Given the description of an element on the screen output the (x, y) to click on. 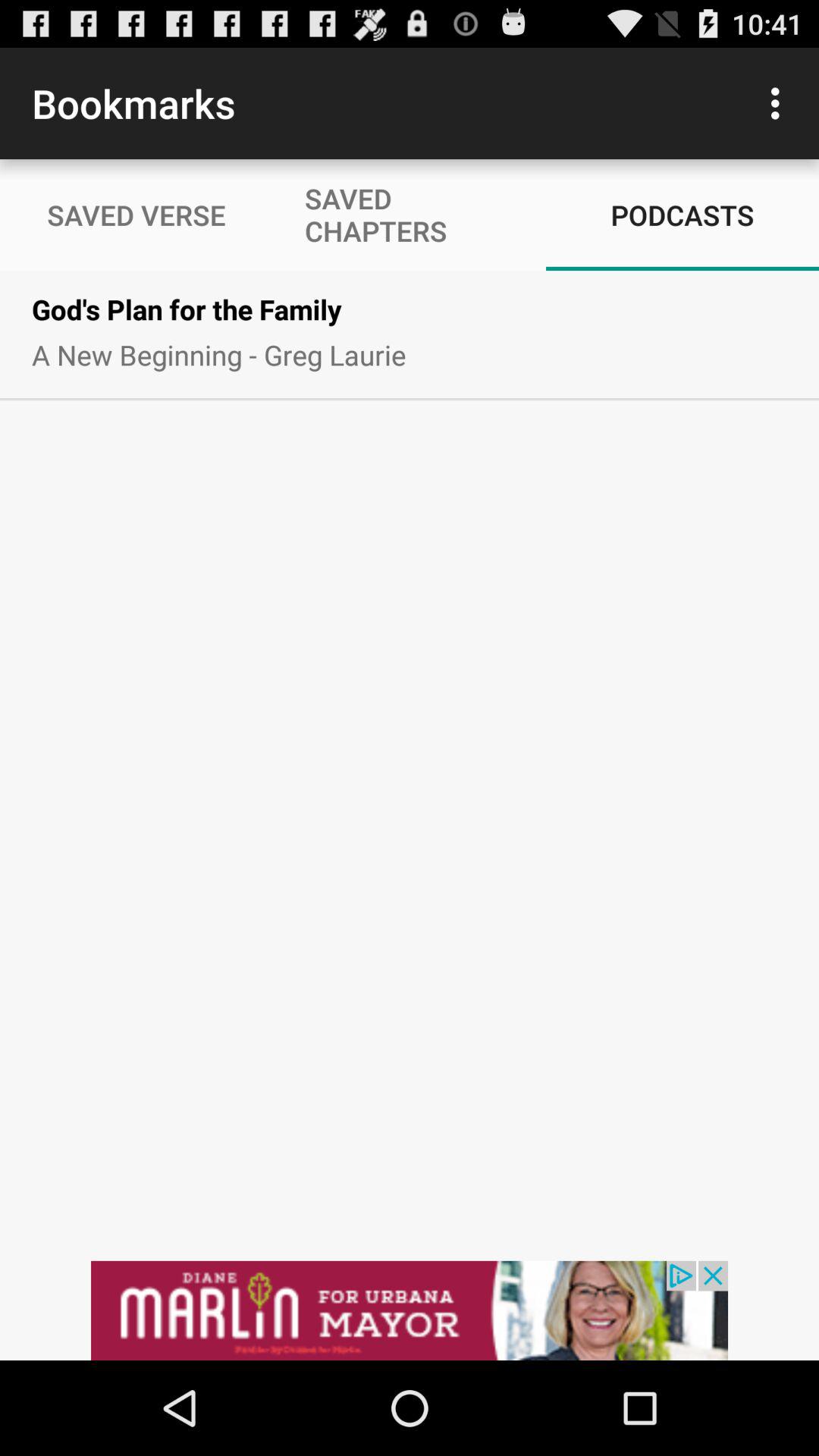
add the option (409, 1262)
